Given the description of an element on the screen output the (x, y) to click on. 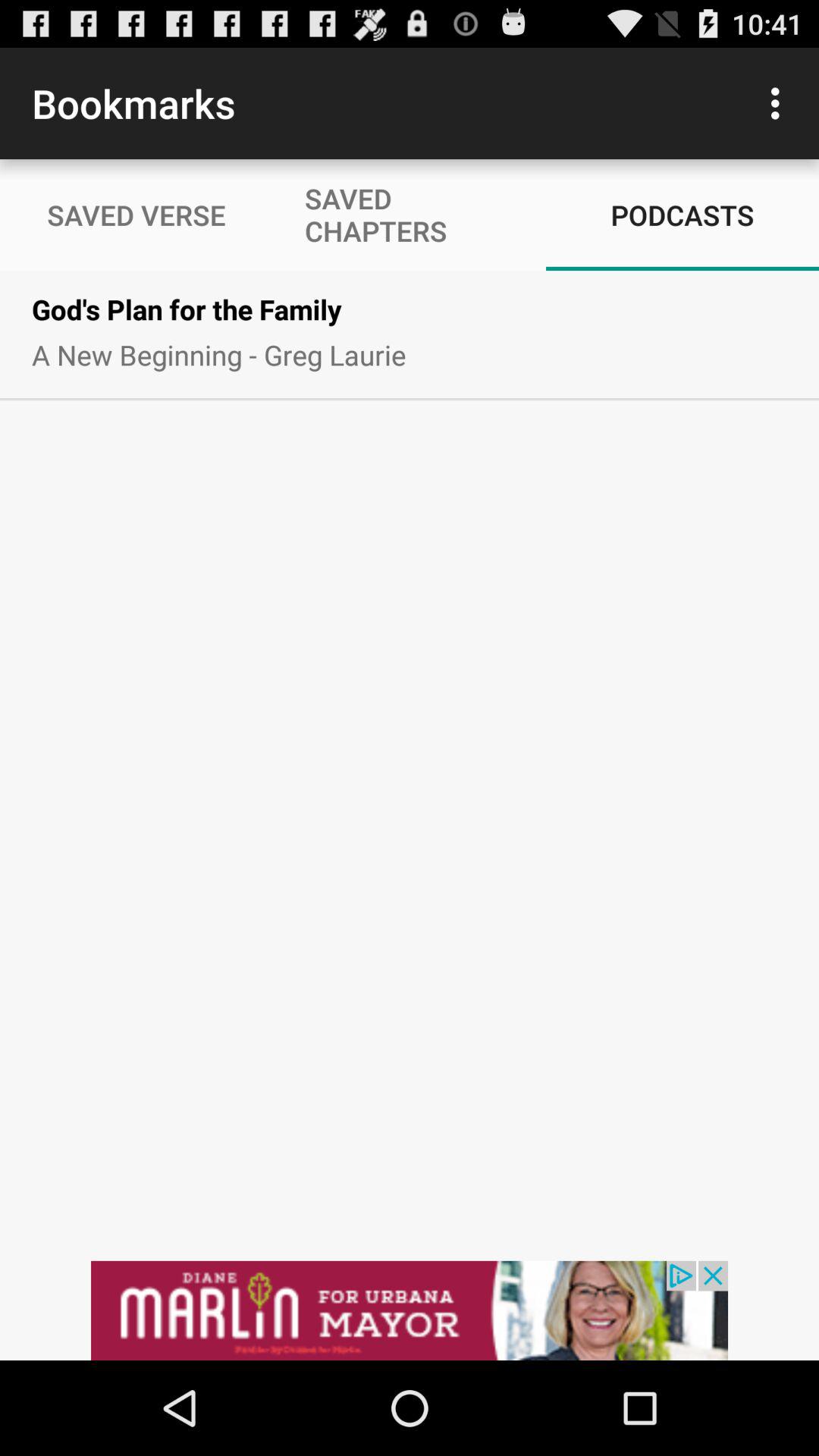
add the option (409, 1262)
